Given the description of an element on the screen output the (x, y) to click on. 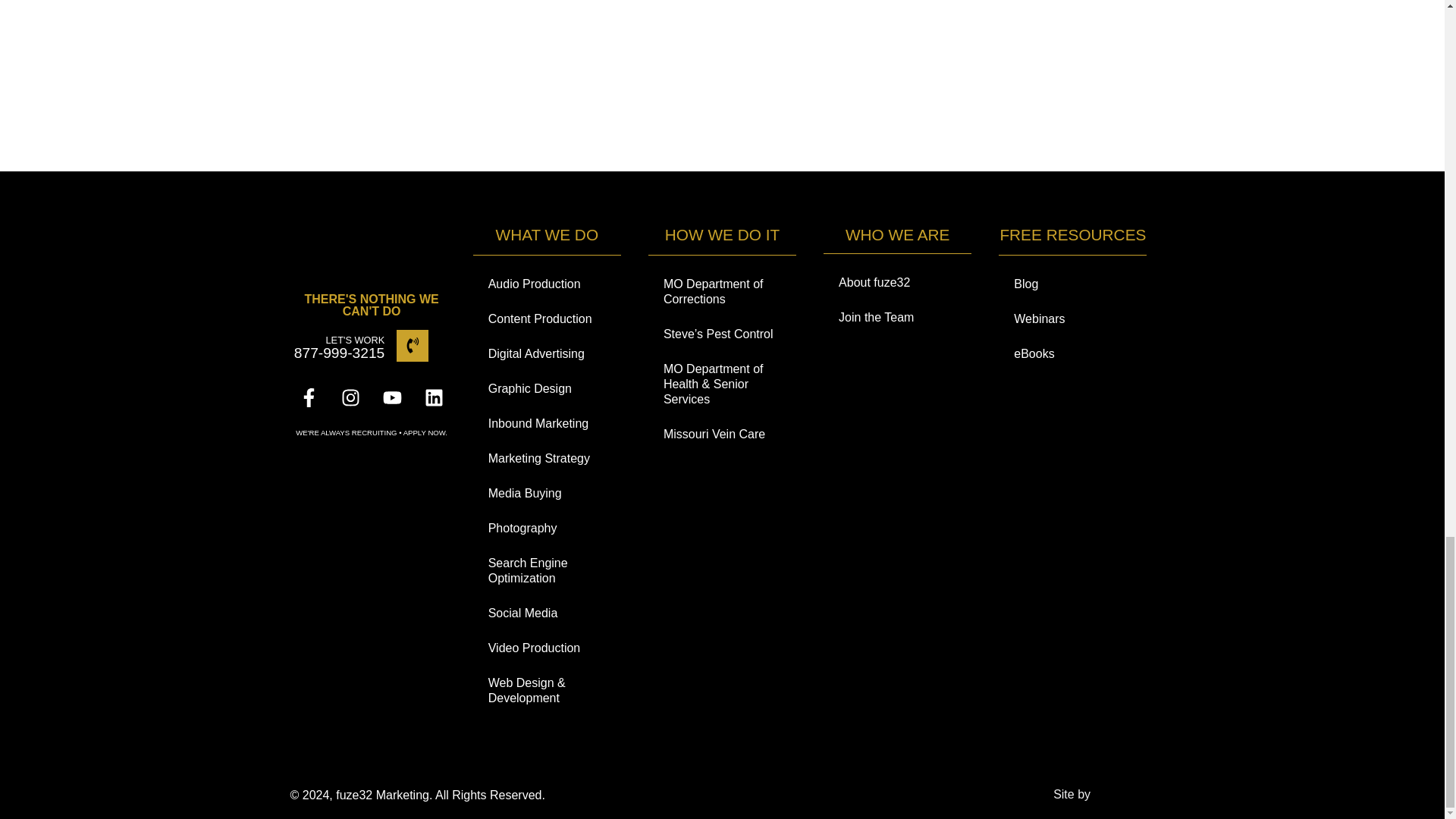
fuze32logo (370, 250)
